Given the description of an element on the screen output the (x, y) to click on. 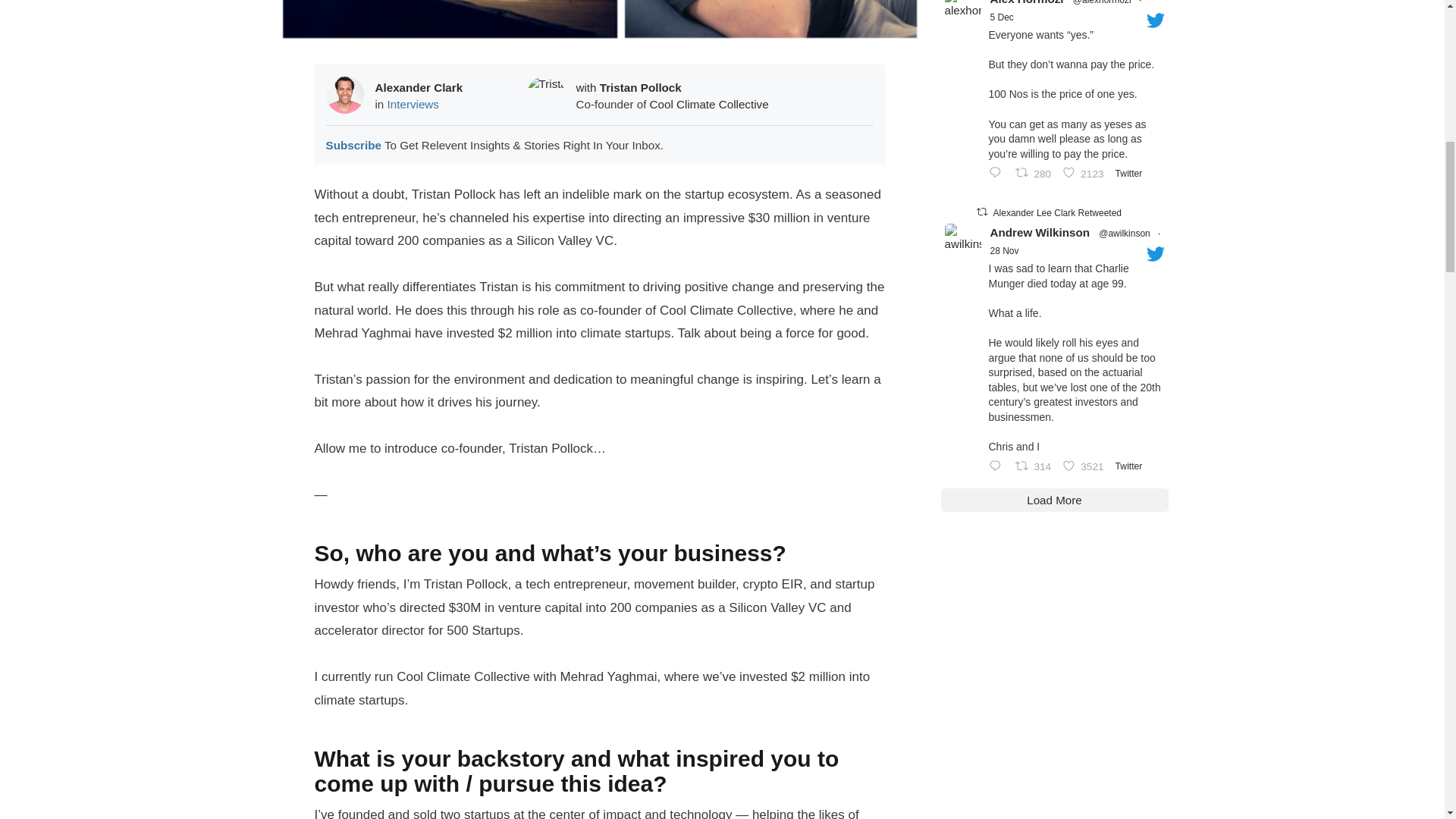
Cool Climate Collective (708, 103)
Subscribe (353, 145)
Tristan Pollock (640, 87)
Interviews (413, 103)
Alexander Clark (418, 87)
with (587, 87)
